Given the description of an element on the screen output the (x, y) to click on. 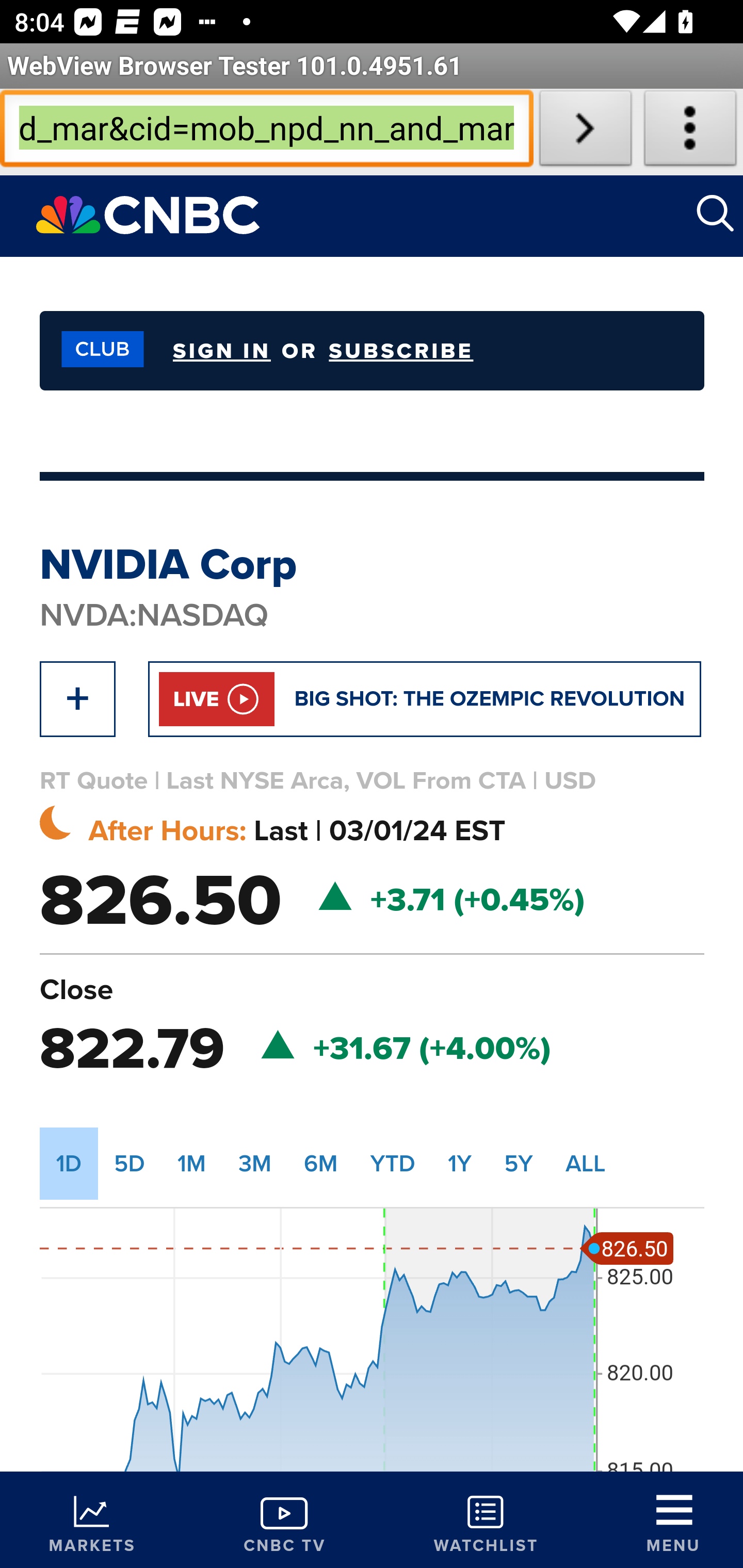
Load URL (585, 132)
About WebView (690, 132)
investingclub (97, 350)
SIGN IN (221, 349)
SUBSCRIBE (401, 350)
+ (77, 698)
LIVE Watch live logo LIVE Watch live logo (216, 698)
BIG SHOT: THE OZEMPIC REVOLUTION (490, 698)
1D (68, 1163)
5D (129, 1163)
1M (191, 1163)
3M (254, 1163)
6M (320, 1163)
YTD (392, 1163)
1Y (458, 1163)
5Y (518, 1163)
ALL (585, 1163)
 MARKETS  MARKETS (91, 1519)
 CNBC TV  CNBC TV (284, 1519)
 WATCHLIST  WATCHLIST (486, 1519)
Open Navigation Menu (673, 1523)
